Given the description of an element on the screen output the (x, y) to click on. 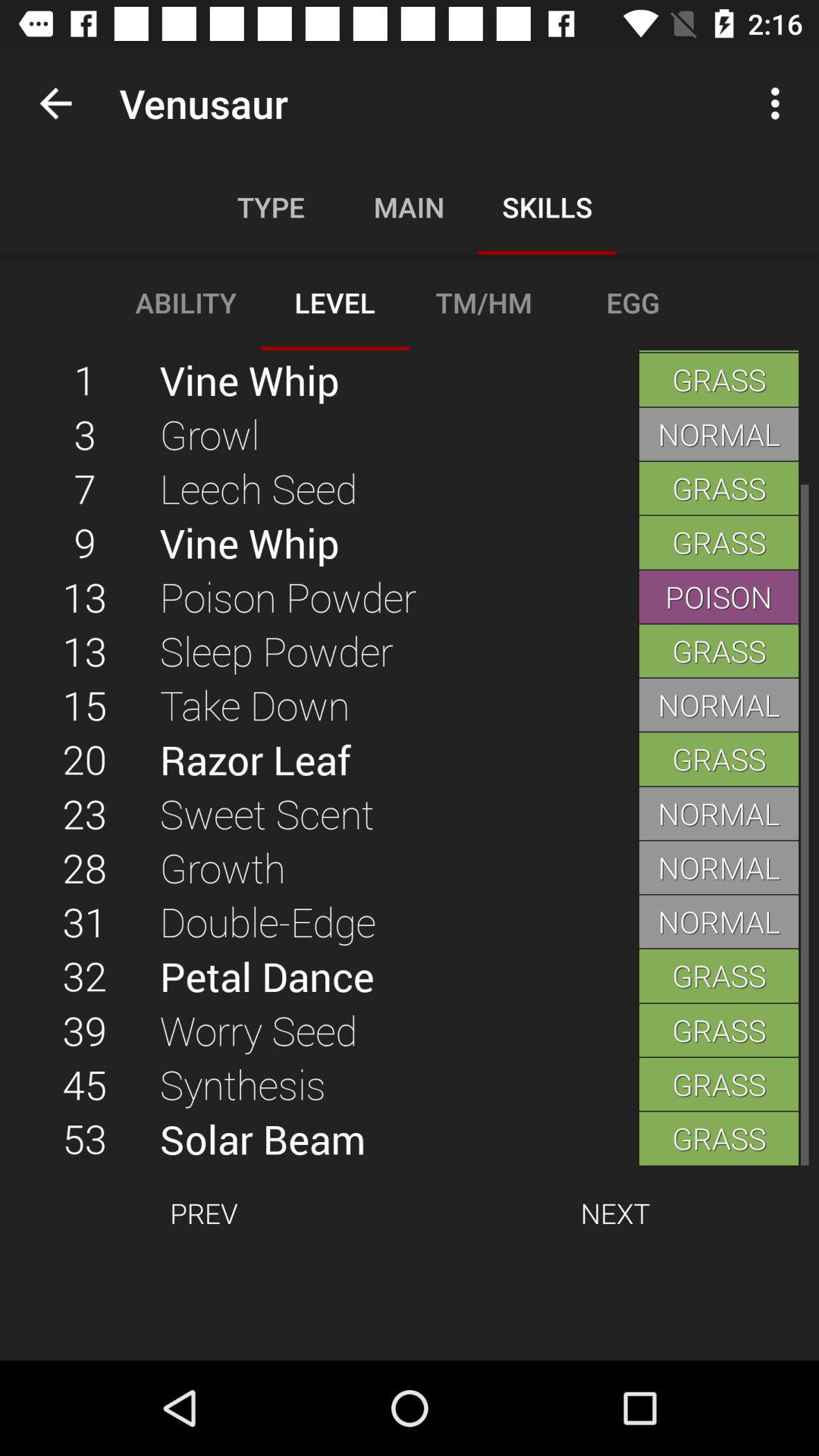
select the icon to the right of 13 (399, 704)
